Given the description of an element on the screen output the (x, y) to click on. 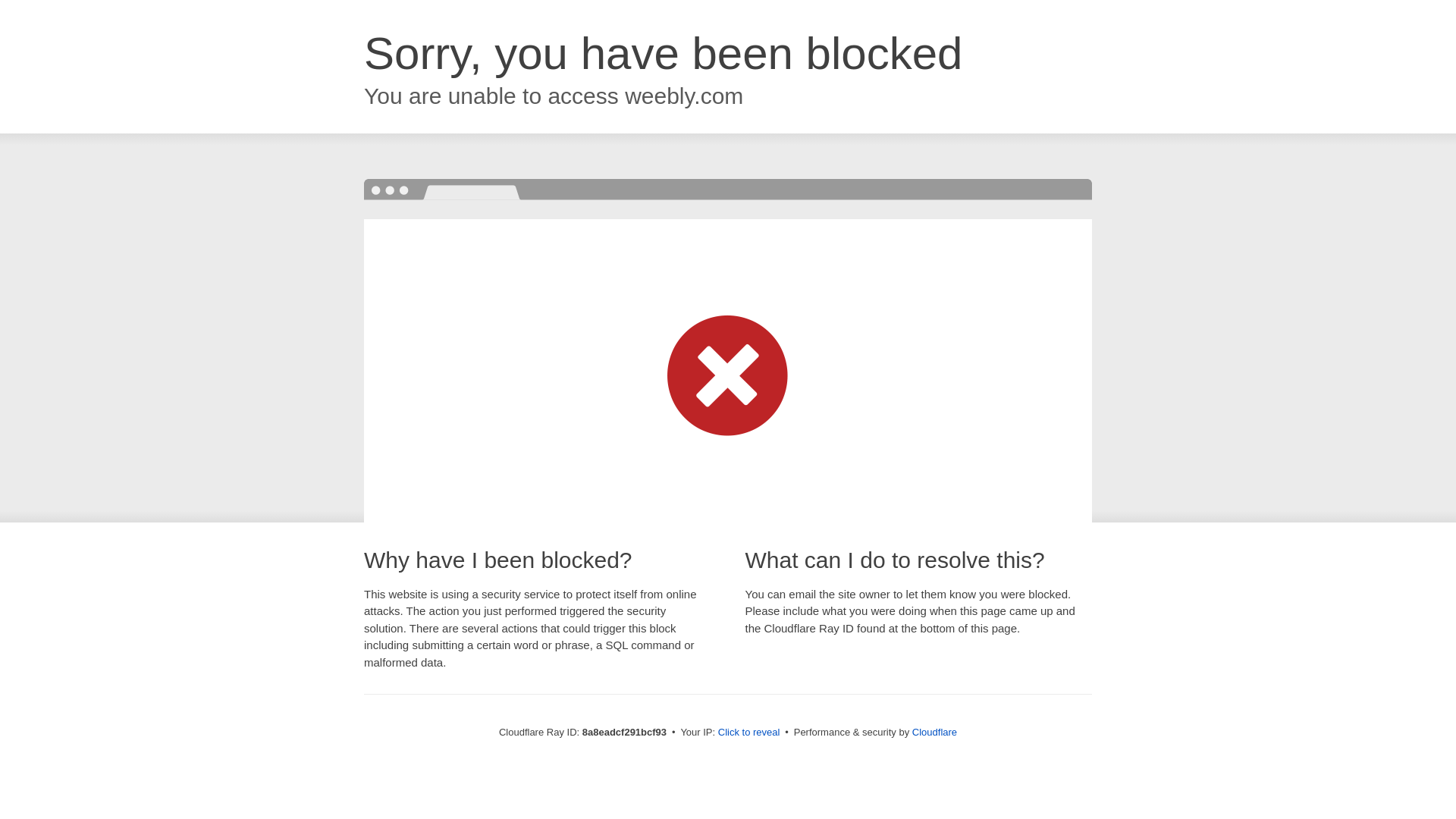
Click to reveal (748, 732)
Cloudflare (934, 731)
